Given the description of an element on the screen output the (x, y) to click on. 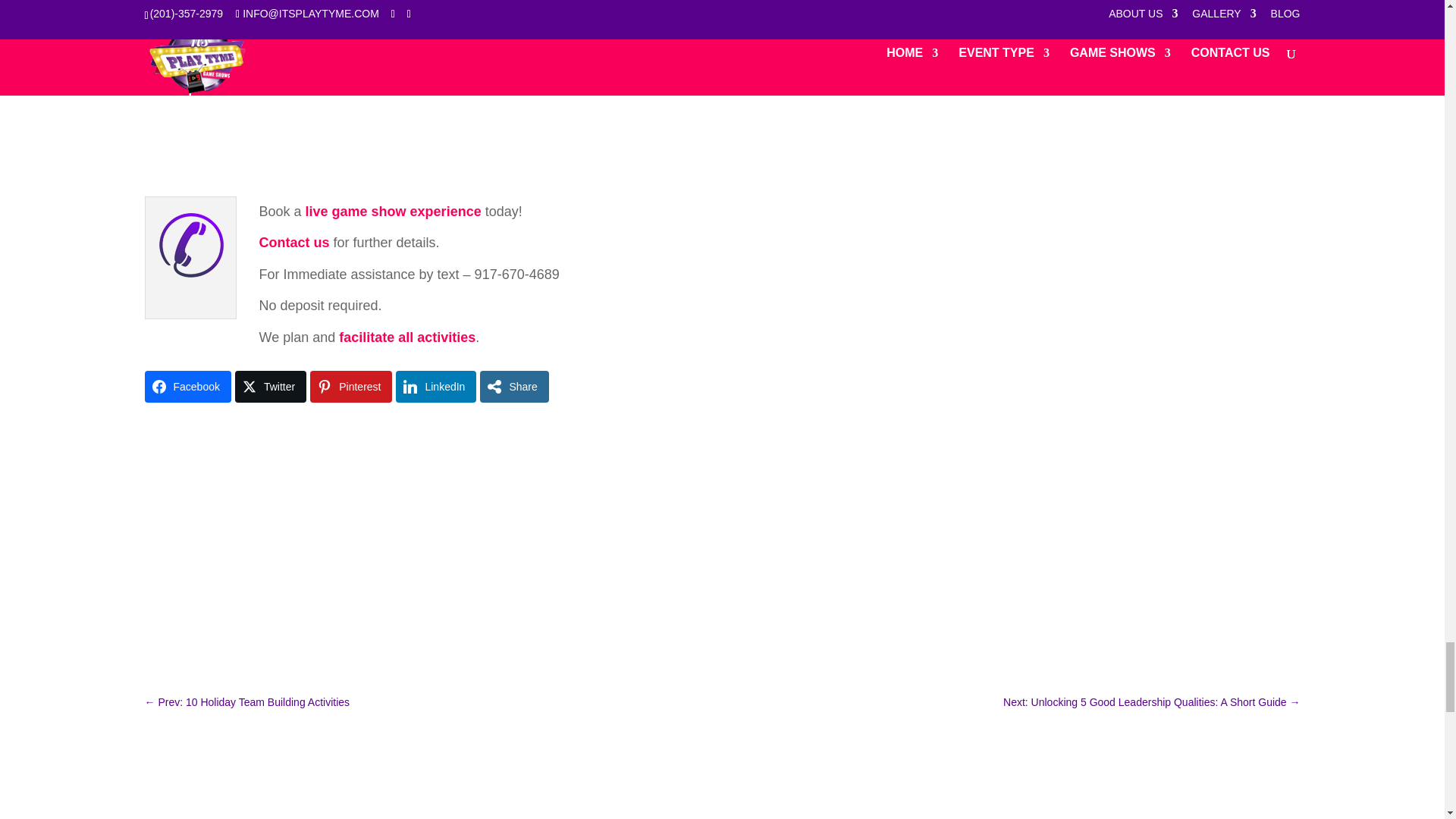
Share on Share (514, 386)
Share on LinkedIn (436, 386)
Share on Facebook (187, 386)
Share on Twitter (269, 386)
Share on Pinterest (350, 386)
